Given the description of an element on the screen output the (x, y) to click on. 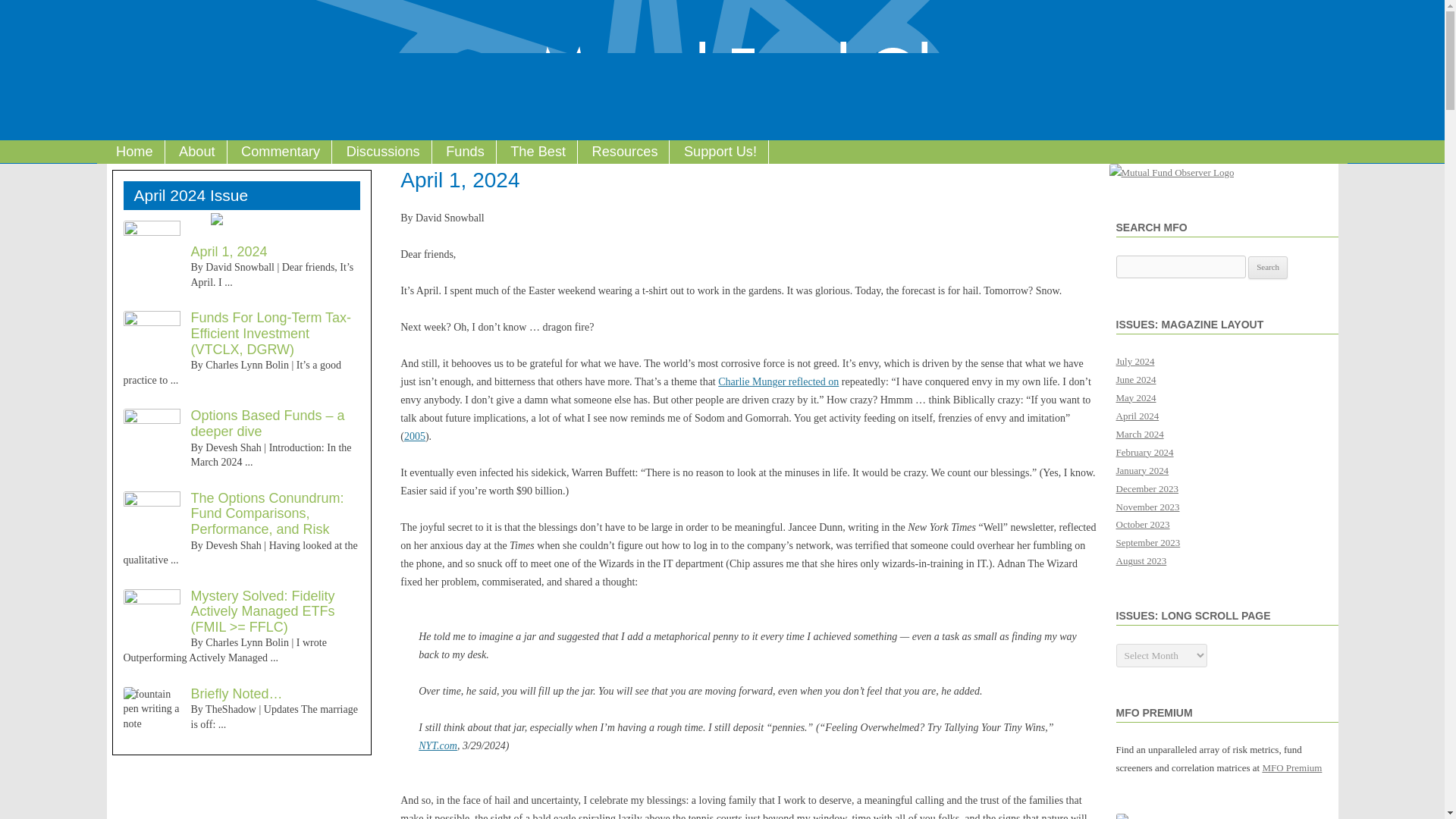
Commentary (280, 151)
April 2024 Issue (188, 194)
Search (1267, 267)
Support Us! (720, 151)
Funds (464, 151)
Mutual Fund Observer (104, 18)
Posts by David Snowball (240, 266)
Home (134, 151)
Posts by Charles Lynn Bolin (246, 642)
Posts by Devesh Shah (233, 545)
About (197, 151)
The Best (538, 151)
April 1, 2024 (228, 251)
